Given the description of an element on the screen output the (x, y) to click on. 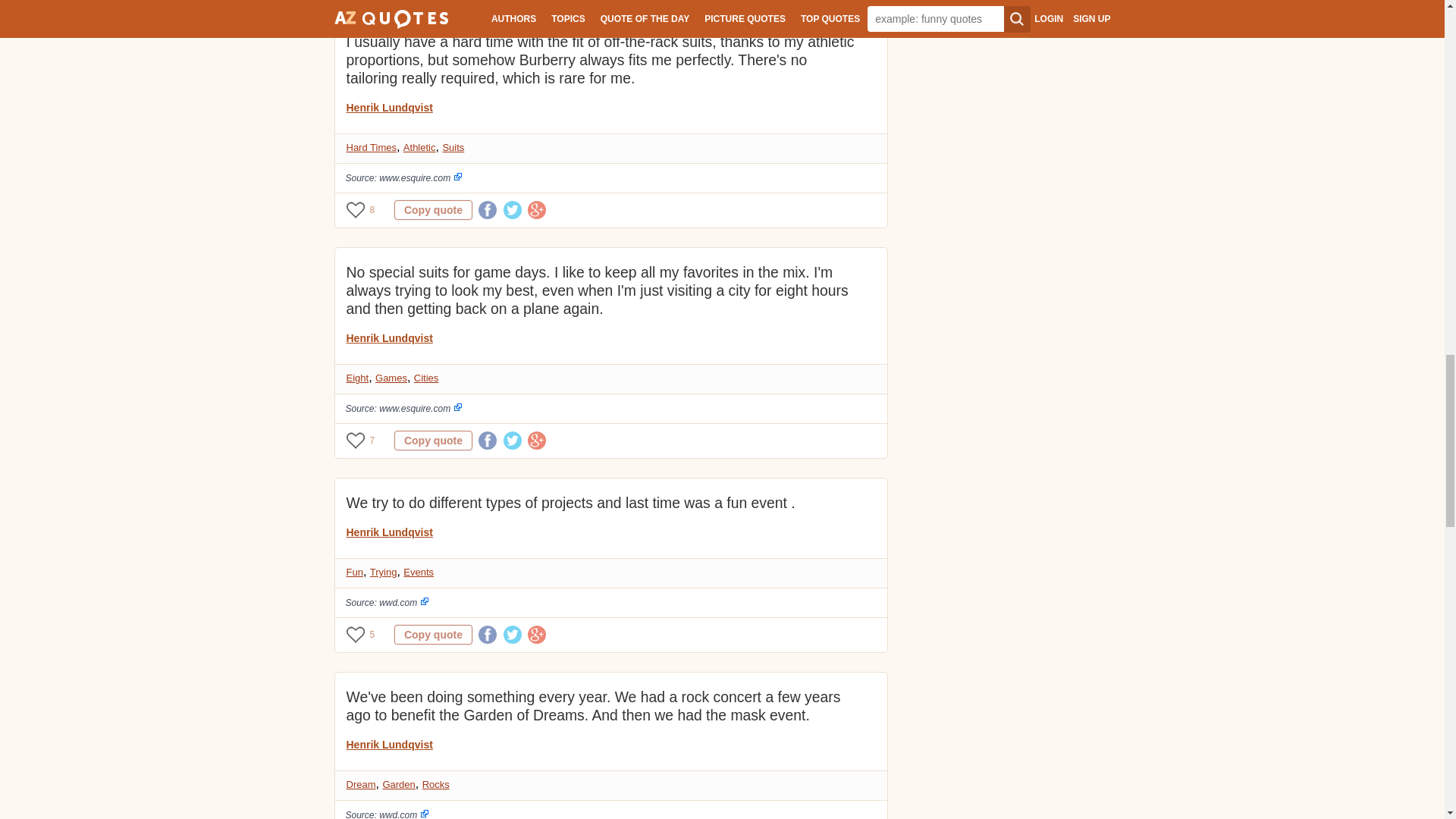
Quote is copied (432, 440)
Quote is copied (432, 209)
Quote is copied (432, 634)
